Given the description of an element on the screen output the (x, y) to click on. 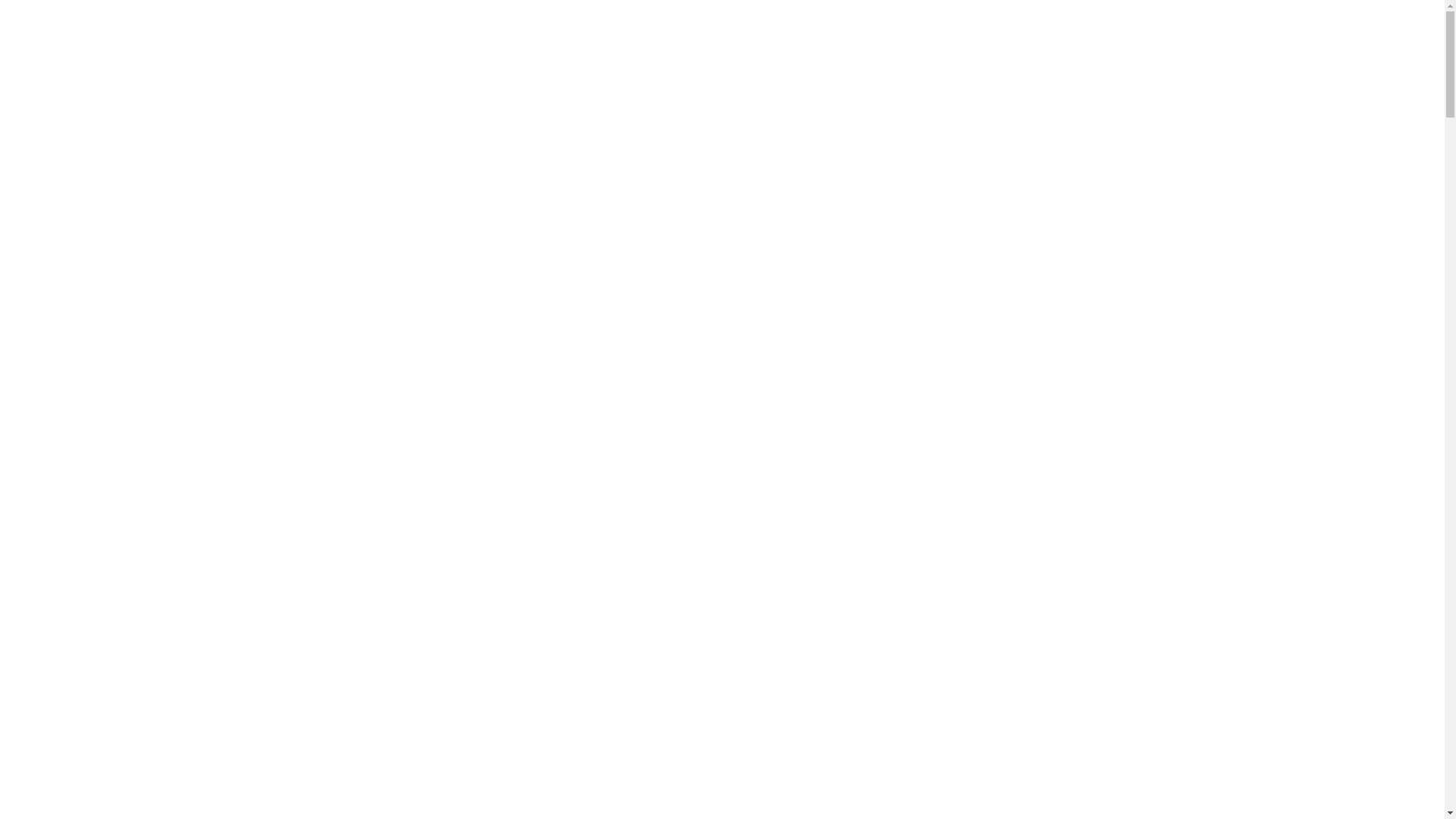
English Element type: text (1033, 69)
